Given the description of an element on the screen output the (x, y) to click on. 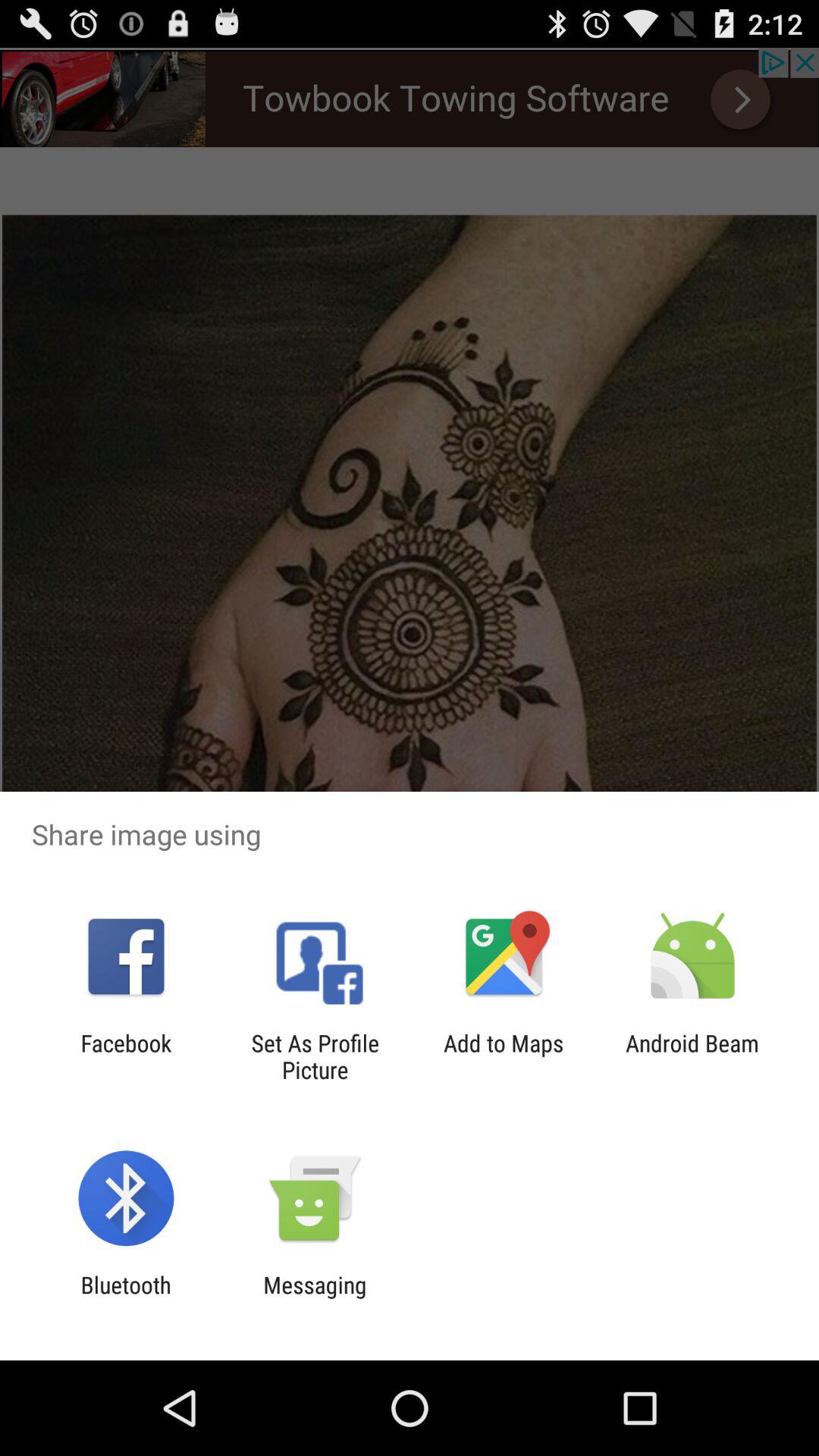
tap icon to the left of the android beam app (503, 1056)
